Given the description of an element on the screen output the (x, y) to click on. 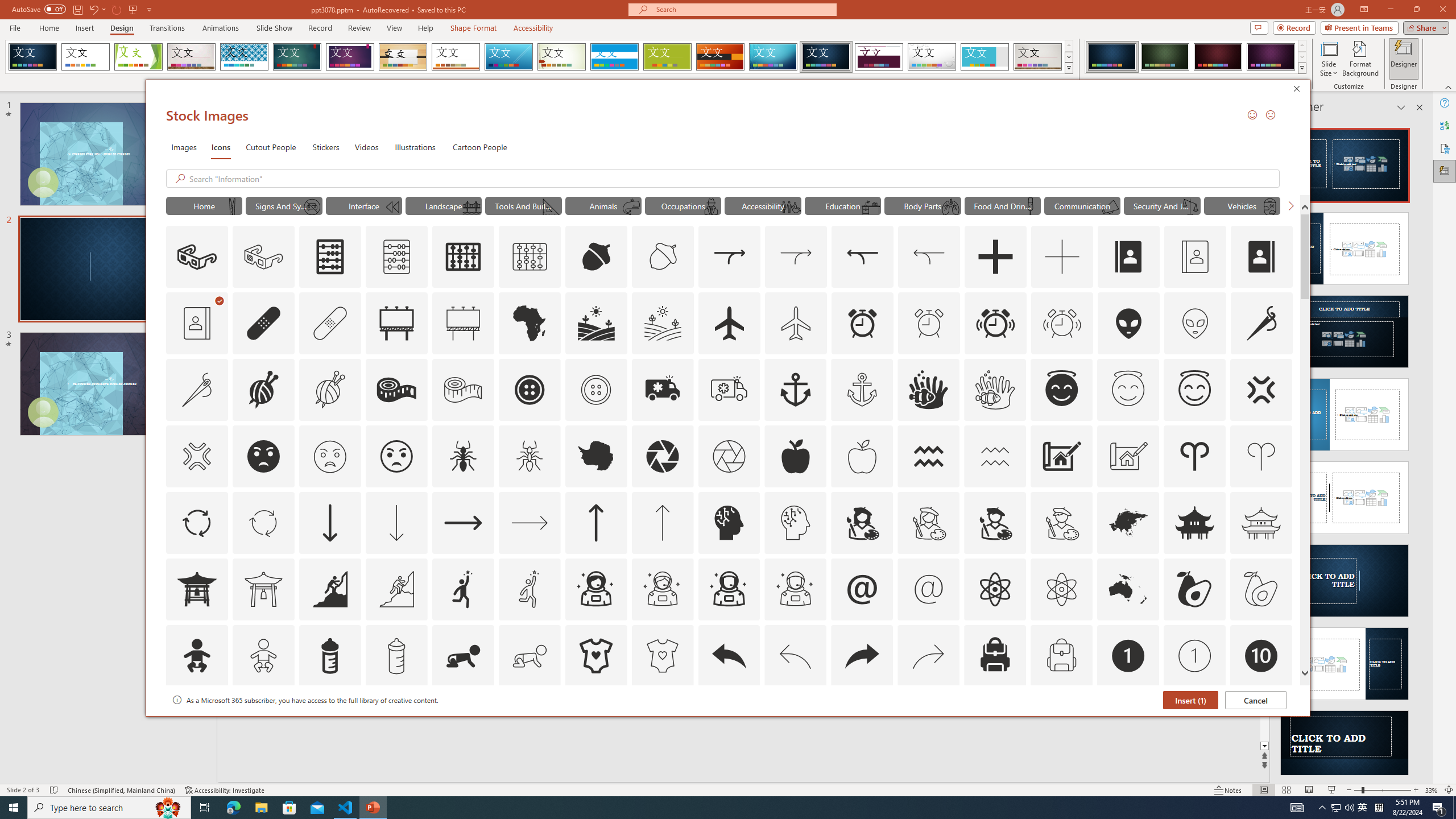
AutomationID: Icons_Lungs_M (950, 206)
AutomationID: Icons_AlarmRinging_M (1062, 323)
AutomationID: Icons_Aries_M (1260, 455)
AutomationID: Icons_Anchor (795, 389)
AutomationID: Icons_Acquisition_RTL_M (928, 256)
AutomationID: Icons_AsianTemple_M (1260, 522)
Banded (614, 56)
AutomationID: Icons_Advertising_M (462, 323)
AutomationID: Icons_3dGlasses (197, 256)
